Given the description of an element on the screen output the (x, y) to click on. 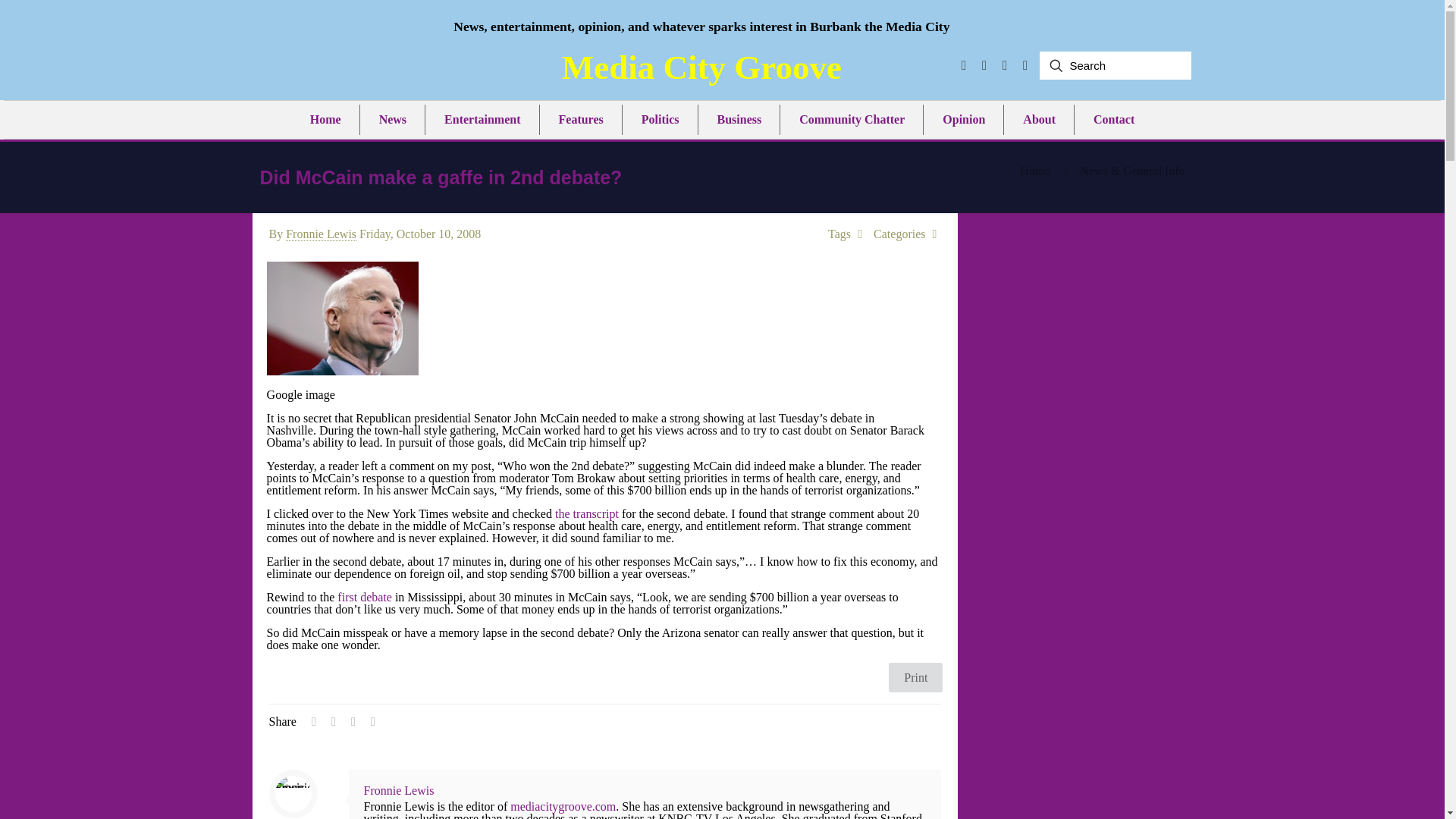
Features (580, 119)
Media City Groove (701, 67)
Politics (660, 119)
Entertainment (482, 119)
About (1038, 119)
Home (325, 119)
Home (1034, 170)
Fronnie Lewis (320, 233)
